Given the description of an element on the screen output the (x, y) to click on. 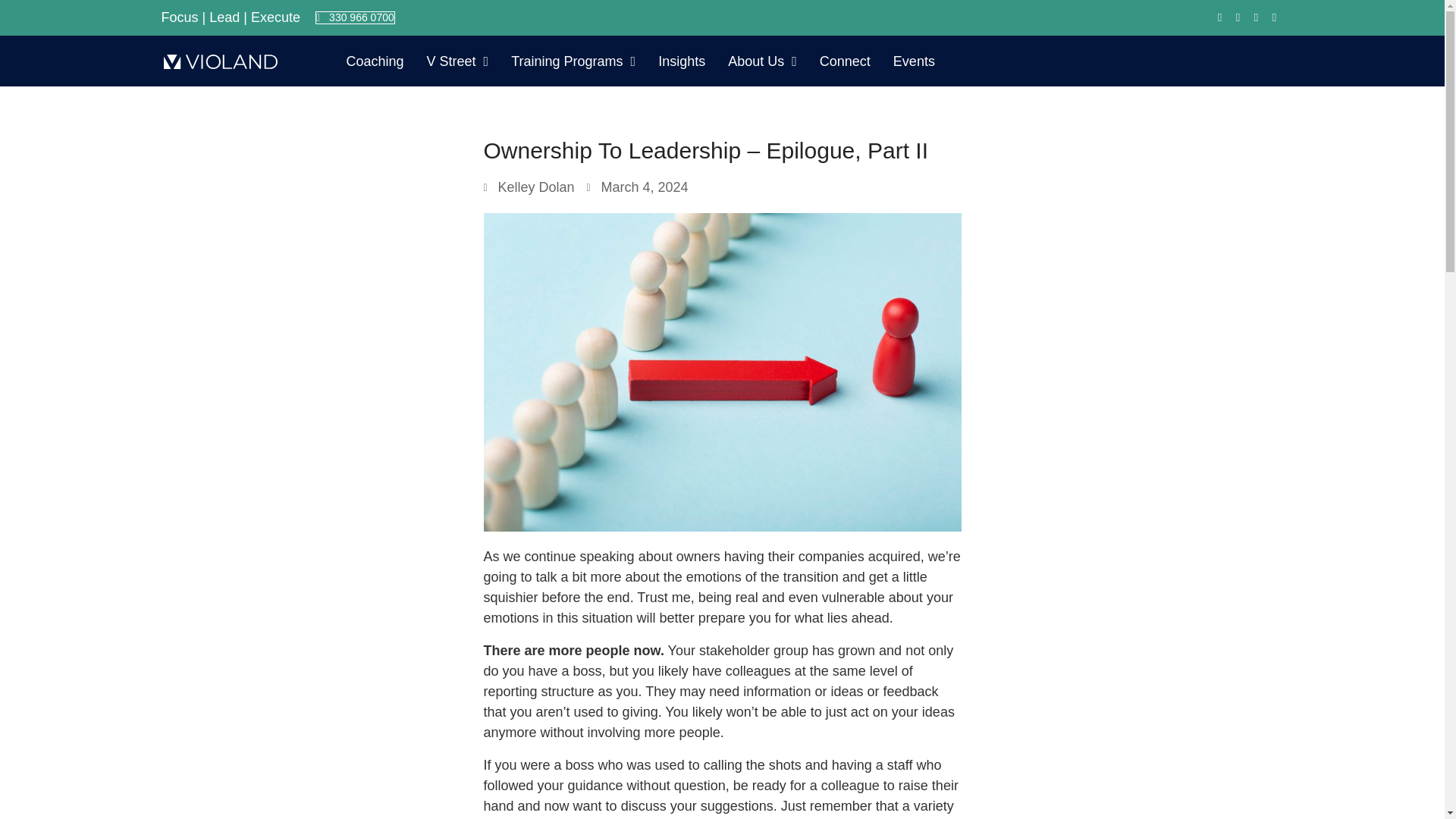
Training Programs (572, 61)
V Street (457, 61)
330 966 0700 (354, 16)
Insights (681, 61)
Coaching (374, 61)
About Us (762, 61)
Connect (845, 61)
Events (914, 61)
